Given the description of an element on the screen output the (x, y) to click on. 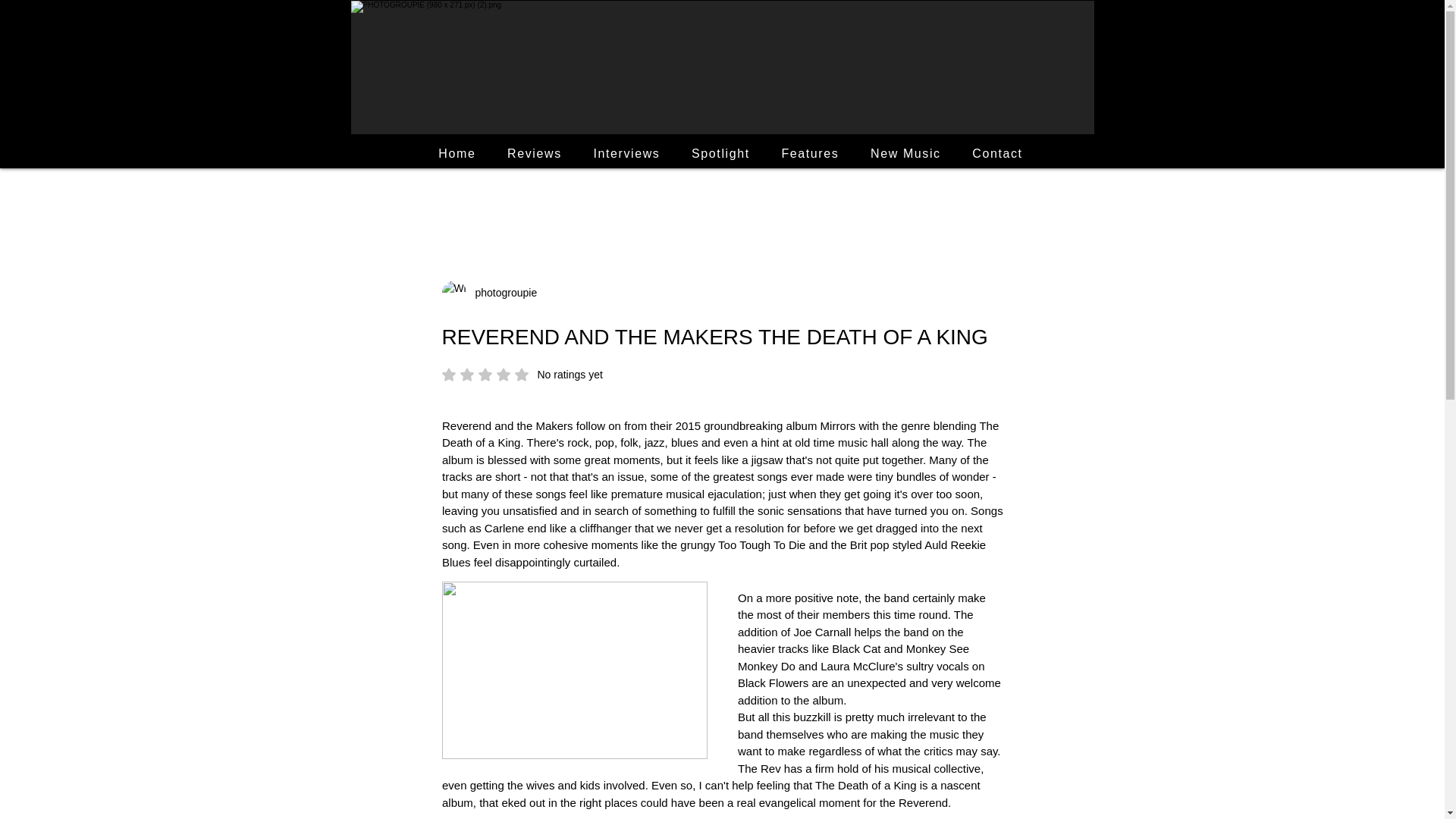
New Music (905, 153)
Interviews (626, 153)
Features (809, 153)
Contact (997, 153)
Spotlight (521, 374)
photogroupie (719, 153)
Home (501, 293)
